Given the description of an element on the screen output the (x, y) to click on. 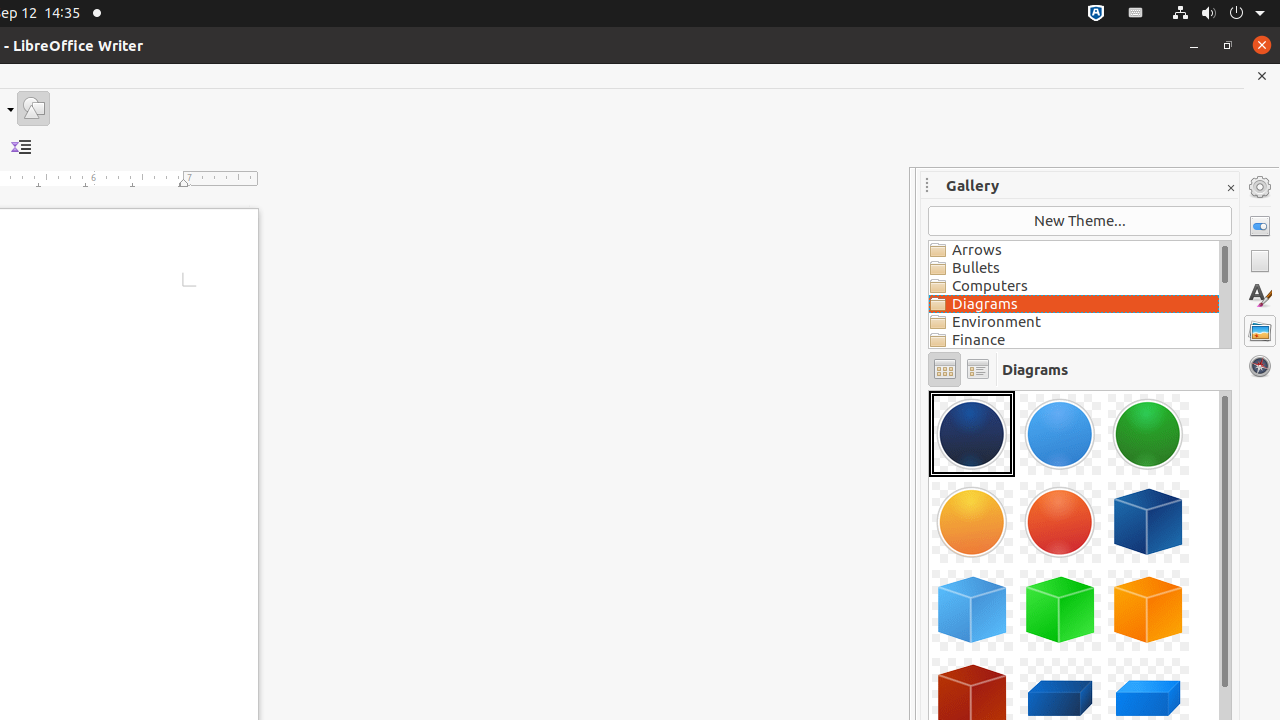
Component-Cube01-DarkBlue Element type: list-item (1148, 522)
Component-Sphere05-Orange Element type: list-item (929, 390)
Draw Functions Element type: toggle-button (33, 108)
:1.72/StatusNotifierItem Element type: menu (1096, 13)
Component-Circle01-Transparent-DarkBlue Element type: list-item (972, 433)
